Given the description of an element on the screen output the (x, y) to click on. 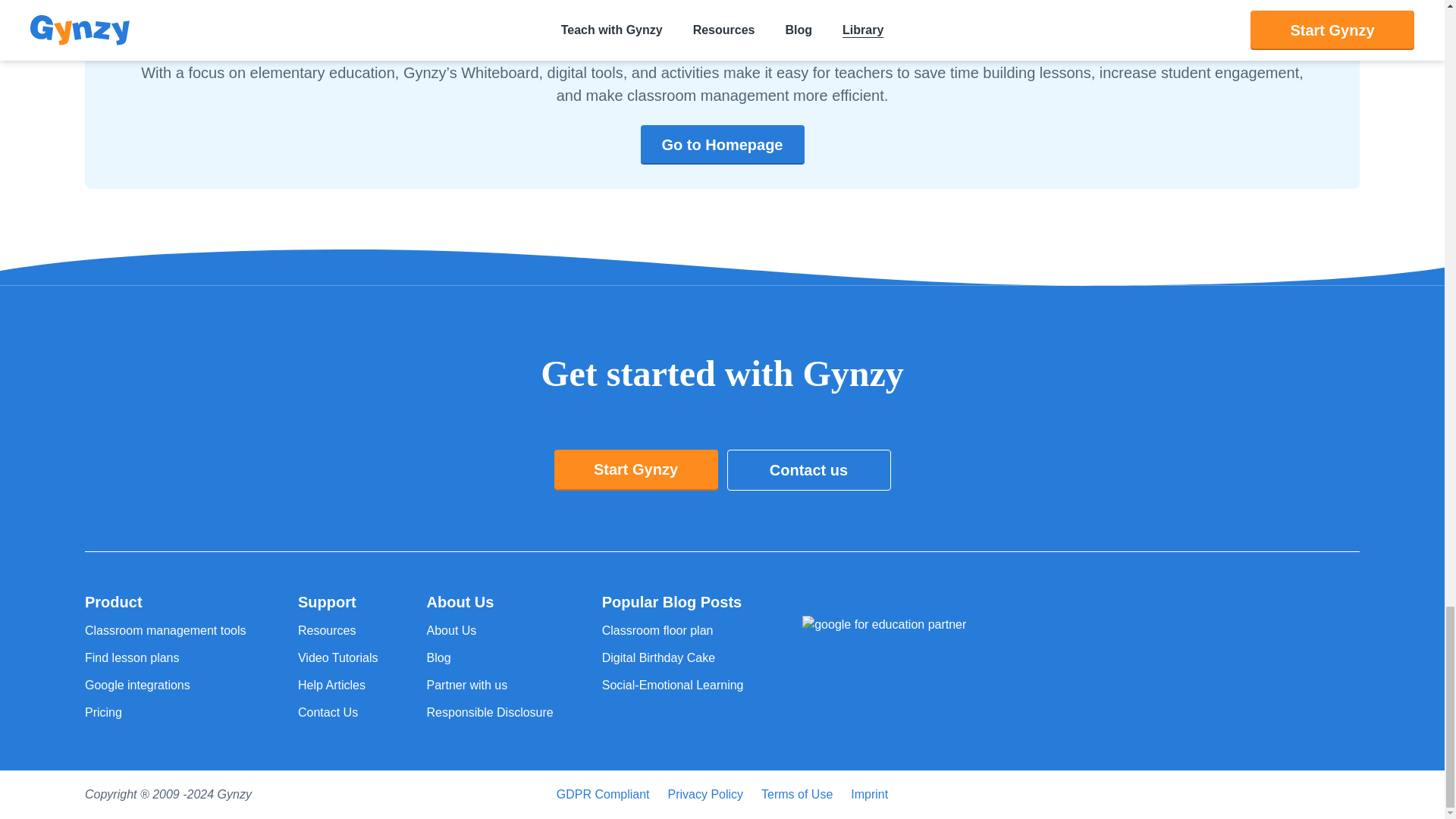
Product (166, 601)
Go to Homepage (721, 144)
Help Articles (338, 685)
Resources (338, 630)
Start Gynzy (635, 469)
Pricing (166, 712)
Find lesson plans (166, 658)
Video Tutorials (338, 658)
Google integrations (166, 685)
Contact us (807, 469)
Classroom management tools  (166, 630)
Support (338, 601)
